Given the description of an element on the screen output the (x, y) to click on. 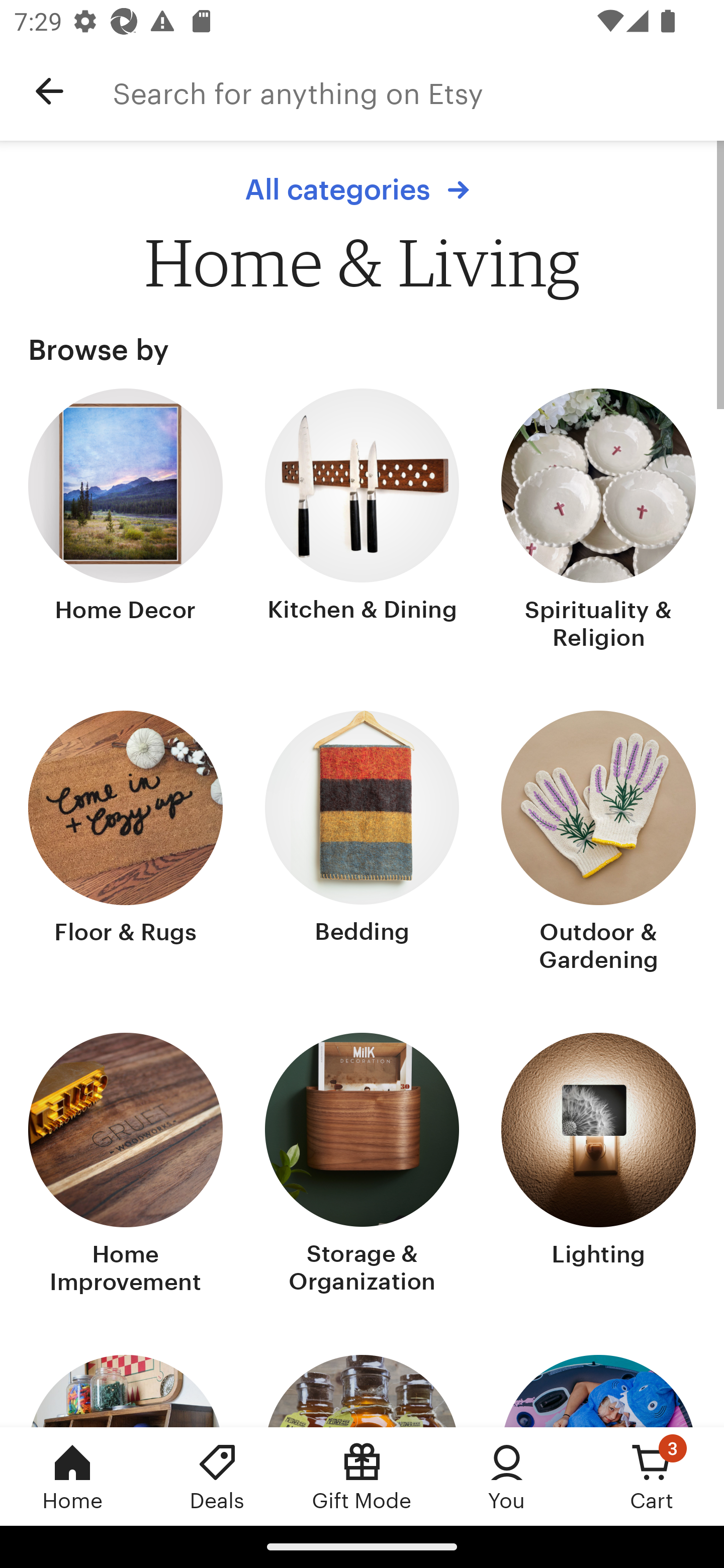
Navigate up (49, 91)
Search for anything on Etsy (418, 91)
All categories (361, 189)
Browse by (361, 349)
Home Decor (125, 520)
Kitchen & Dining (361, 520)
Spirituality & Religion (598, 520)
Floor & Rugs (125, 843)
Bedding (361, 843)
Outdoor & Gardening (598, 843)
Home Improvement (125, 1165)
Storage & Organization (361, 1165)
Lighting (598, 1165)
Deals (216, 1475)
Gift Mode (361, 1475)
You (506, 1475)
Cart, 3 new notifications Cart (651, 1475)
